Given the description of an element on the screen output the (x, y) to click on. 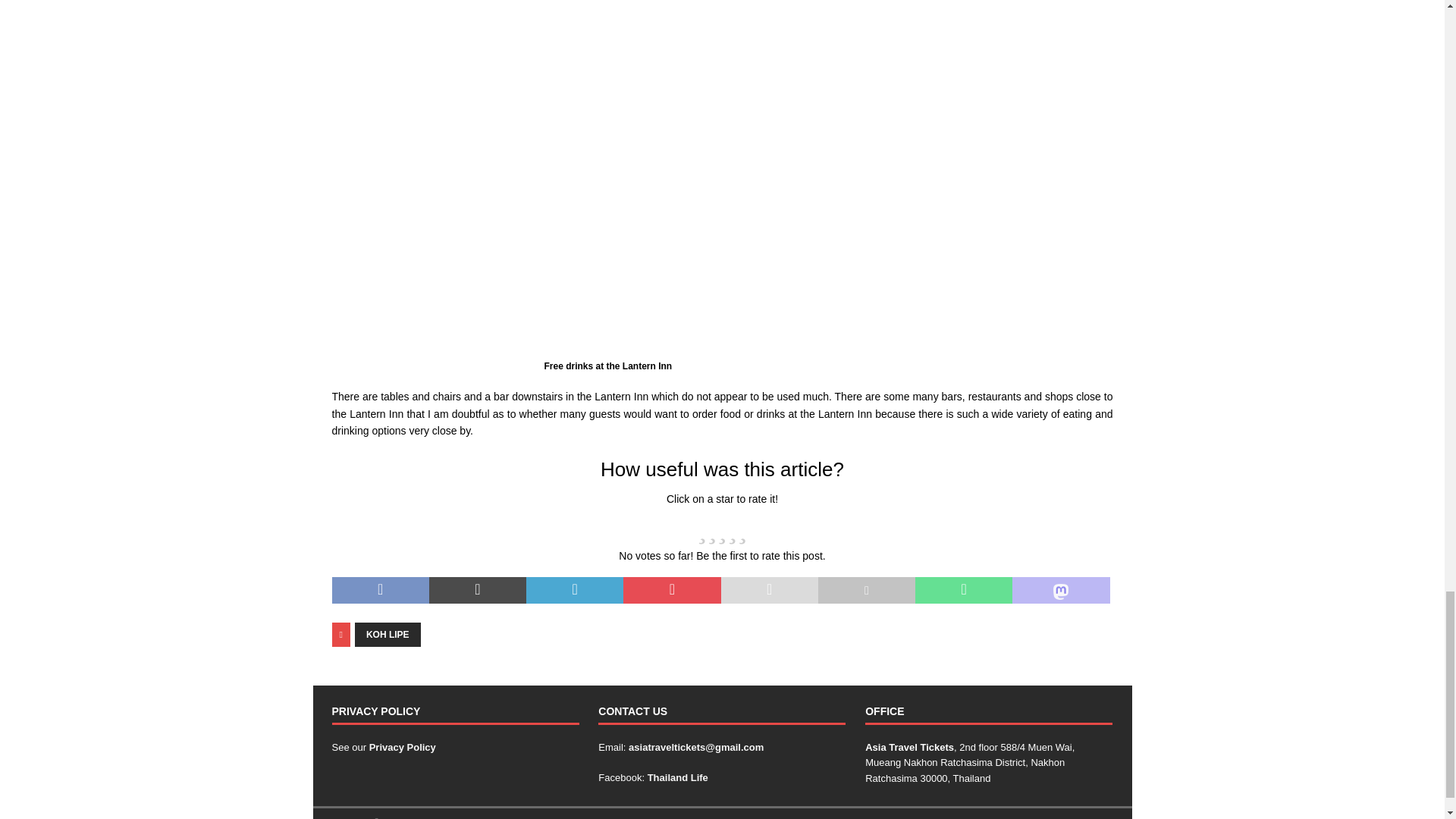
Share on LinkedIn (574, 590)
Tweet This Post (477, 590)
Share on Whatsapp (963, 590)
Share On Mastodon (1060, 590)
Send this article to a friend (769, 590)
Print this article (866, 590)
Pin This Post (671, 590)
E-mail us (695, 747)
Share on Facebook (380, 590)
Privacy Policy (402, 747)
